Given the description of an element on the screen output the (x, y) to click on. 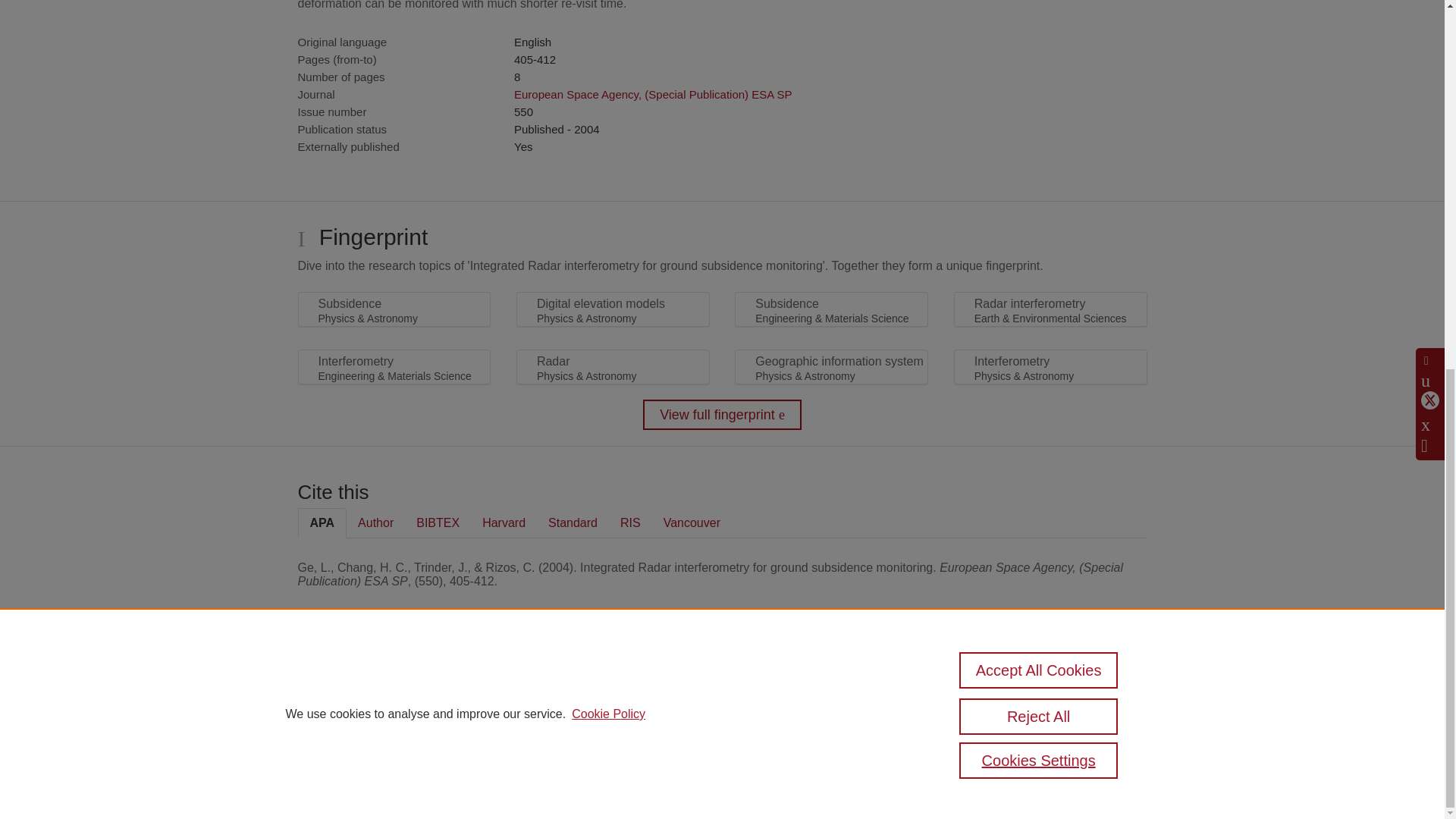
Elsevier B.V. (506, 707)
use of cookies (796, 739)
Scopus (394, 686)
Pure (362, 686)
View full fingerprint (722, 414)
